Given the description of an element on the screen output the (x, y) to click on. 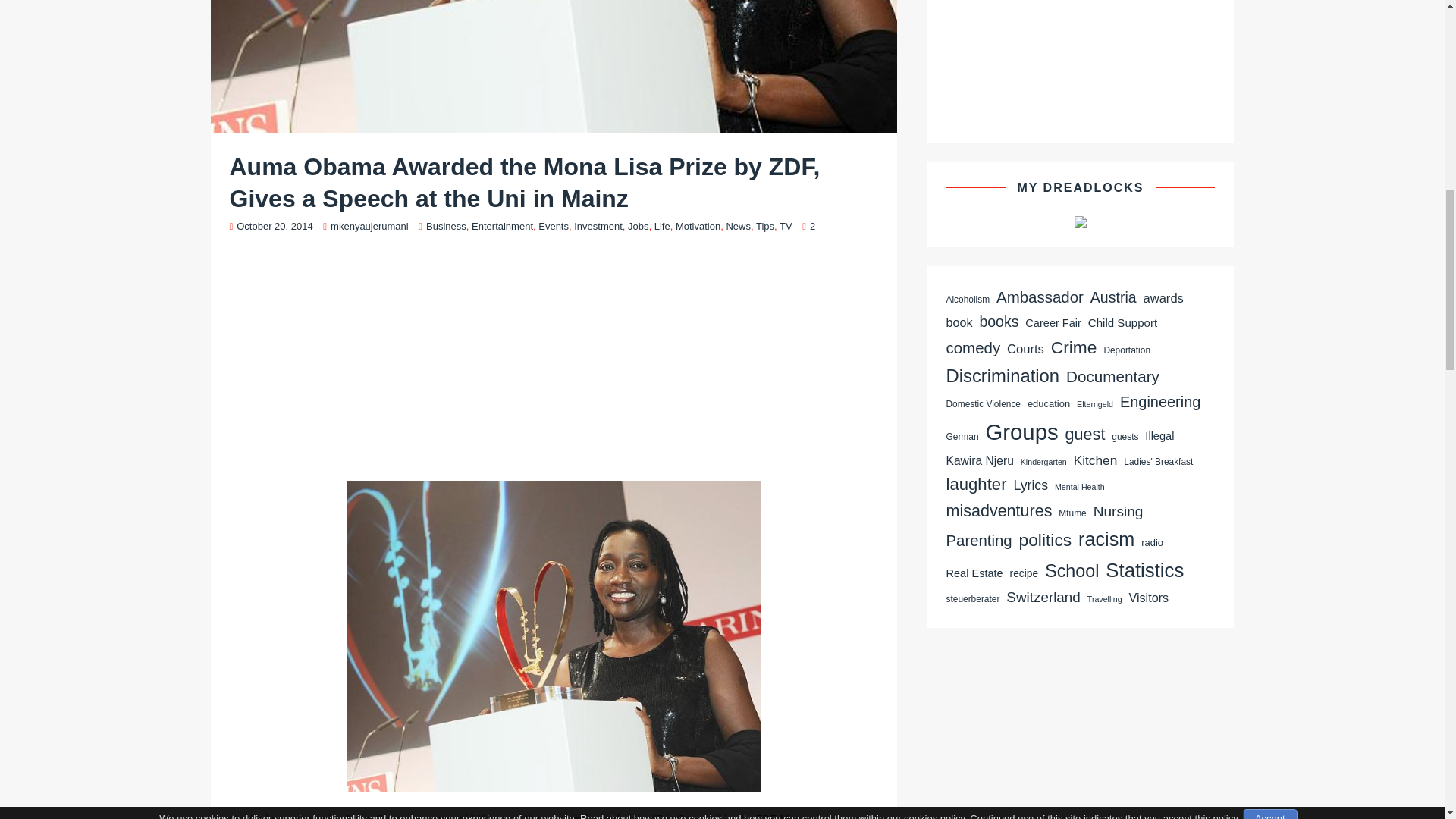
Auma Obama ZDF Prix Courage Mona Lisa (553, 66)
